Given the description of an element on the screen output the (x, y) to click on. 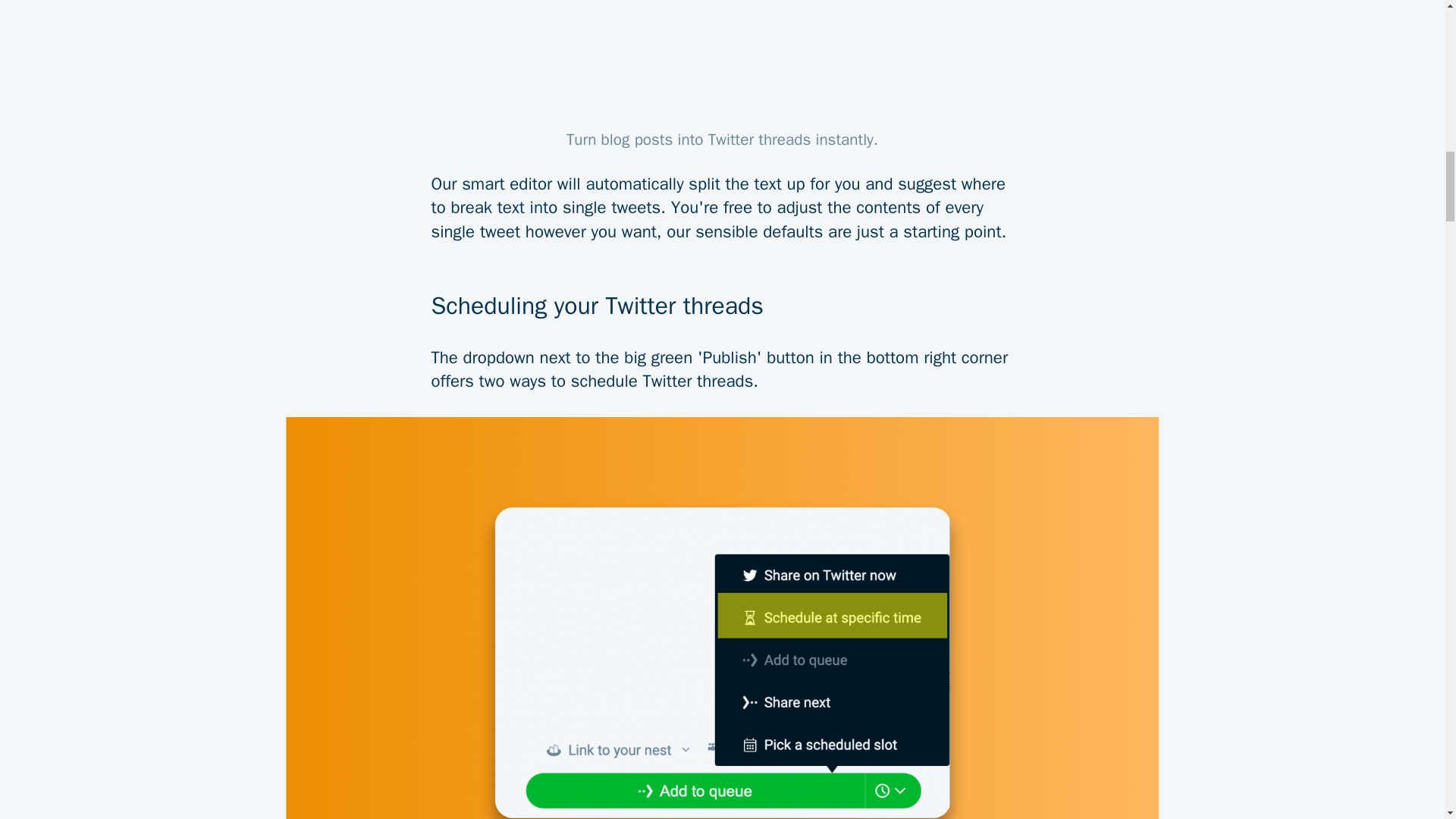
YouTube video player (721, 60)
Scheduling your Twitter threads (721, 294)
